Given the description of an element on the screen output the (x, y) to click on. 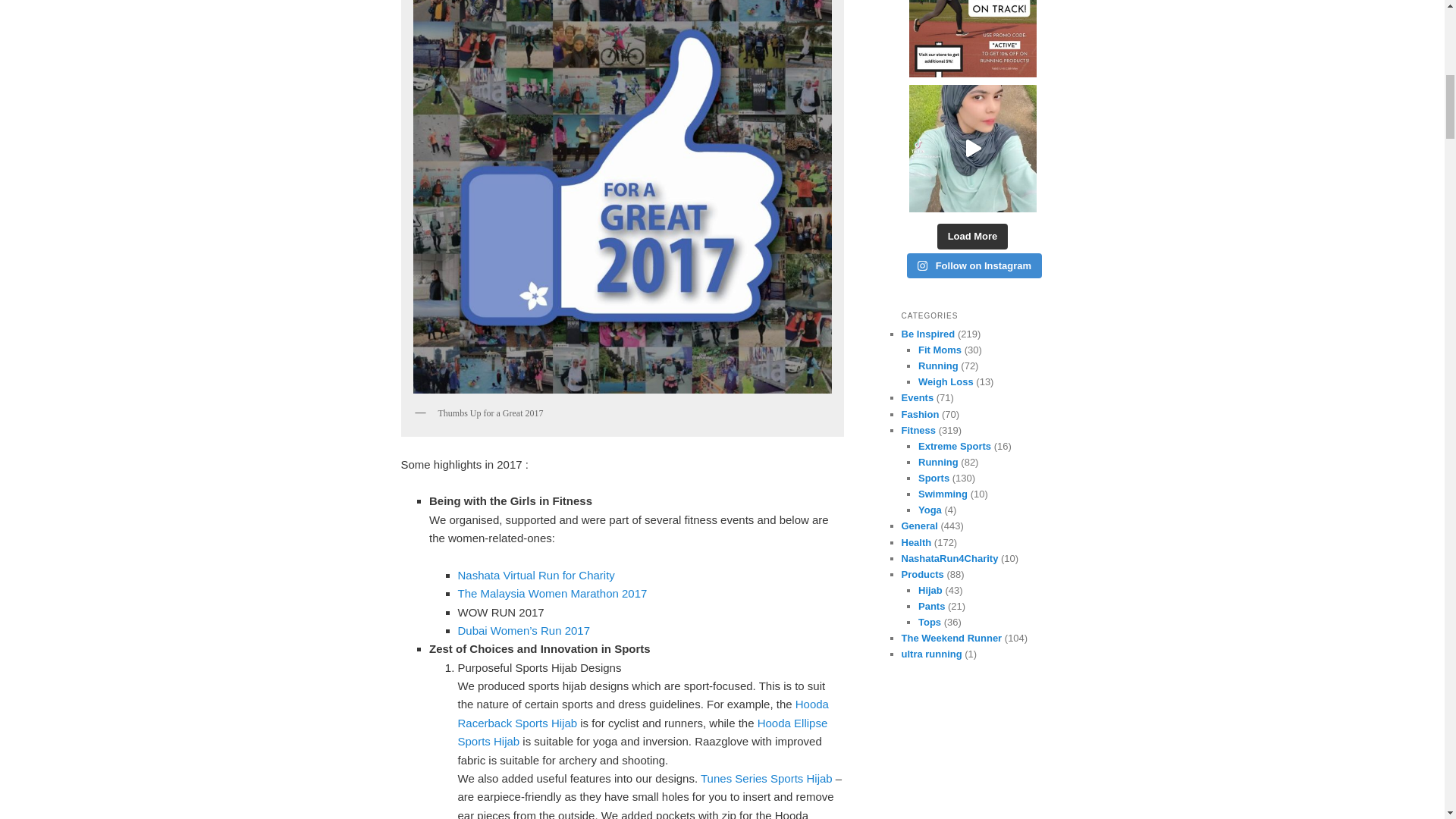
Hooda Racerback Sports Hijab (643, 712)
Tunes Series Sports Hijab (766, 778)
Sporting actiivities (933, 478)
Nashata Virtual Run for Charity (536, 574)
The Malaysia Women Marathon 2017 (552, 593)
Hooda Ellipse Sports Hijab (643, 731)
